Given the description of an element on the screen output the (x, y) to click on. 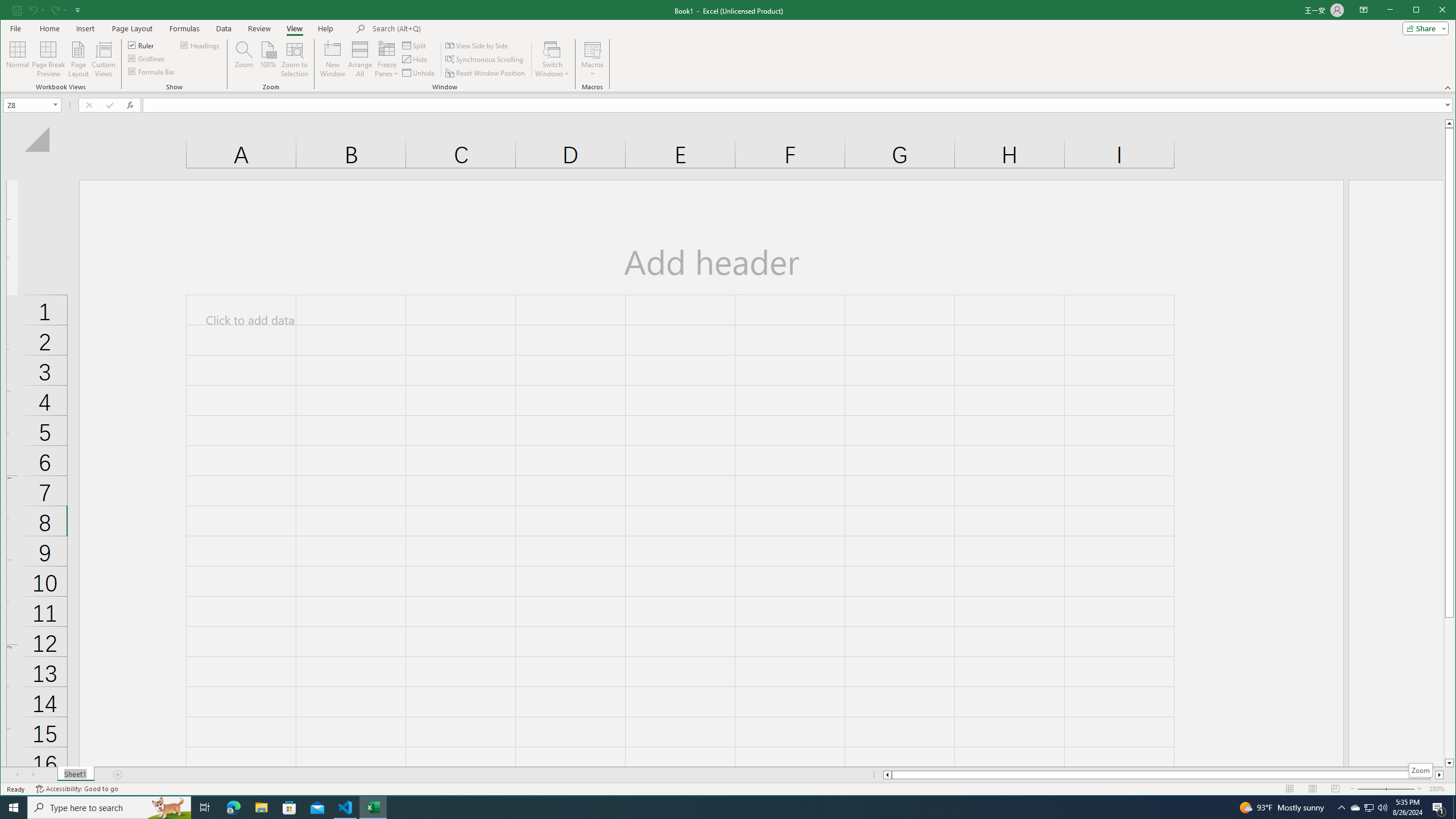
Collapse the Ribbon (1448, 87)
Gridlines (147, 57)
Zoom (1420, 770)
Task View (204, 807)
Action Center, 1 new notification (1439, 807)
Microsoft Edge (233, 807)
Normal (17, 59)
Line down (1449, 763)
Name Box (27, 104)
Insert (85, 28)
Unhide... (419, 72)
Class: NetUIScrollBar (1163, 774)
Arrange All (360, 59)
Name Box (32, 105)
